Given the description of an element on the screen output the (x, y) to click on. 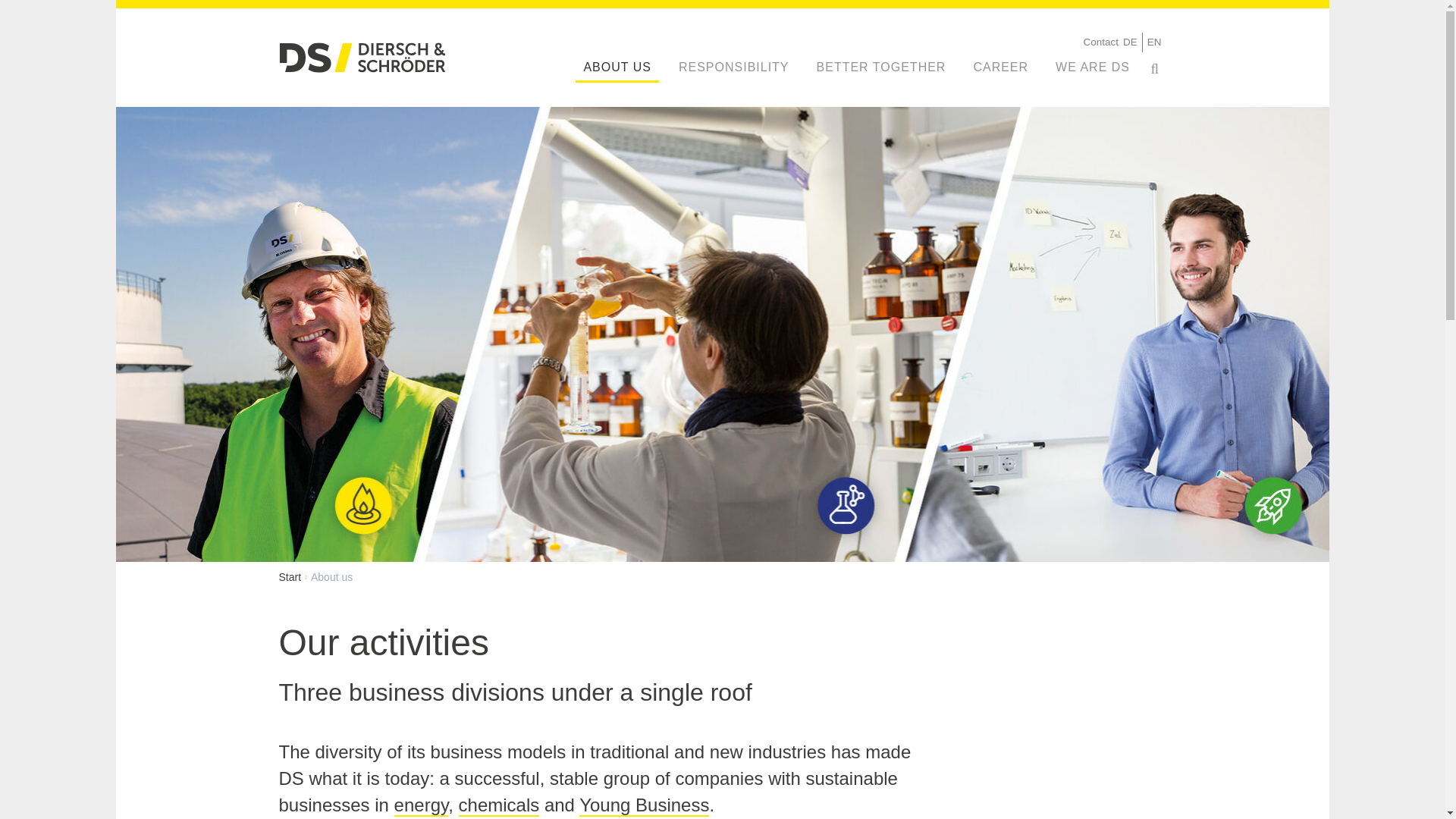
RESPONSIBILITY (733, 67)
Young Business (644, 805)
ABOUT US (617, 67)
BETTER TOGETHER (881, 67)
CAREER (1000, 67)
Contact (1100, 42)
WE ARE DS (1092, 67)
Start (290, 577)
energy (421, 805)
chemicals (499, 805)
